Given the description of an element on the screen output the (x, y) to click on. 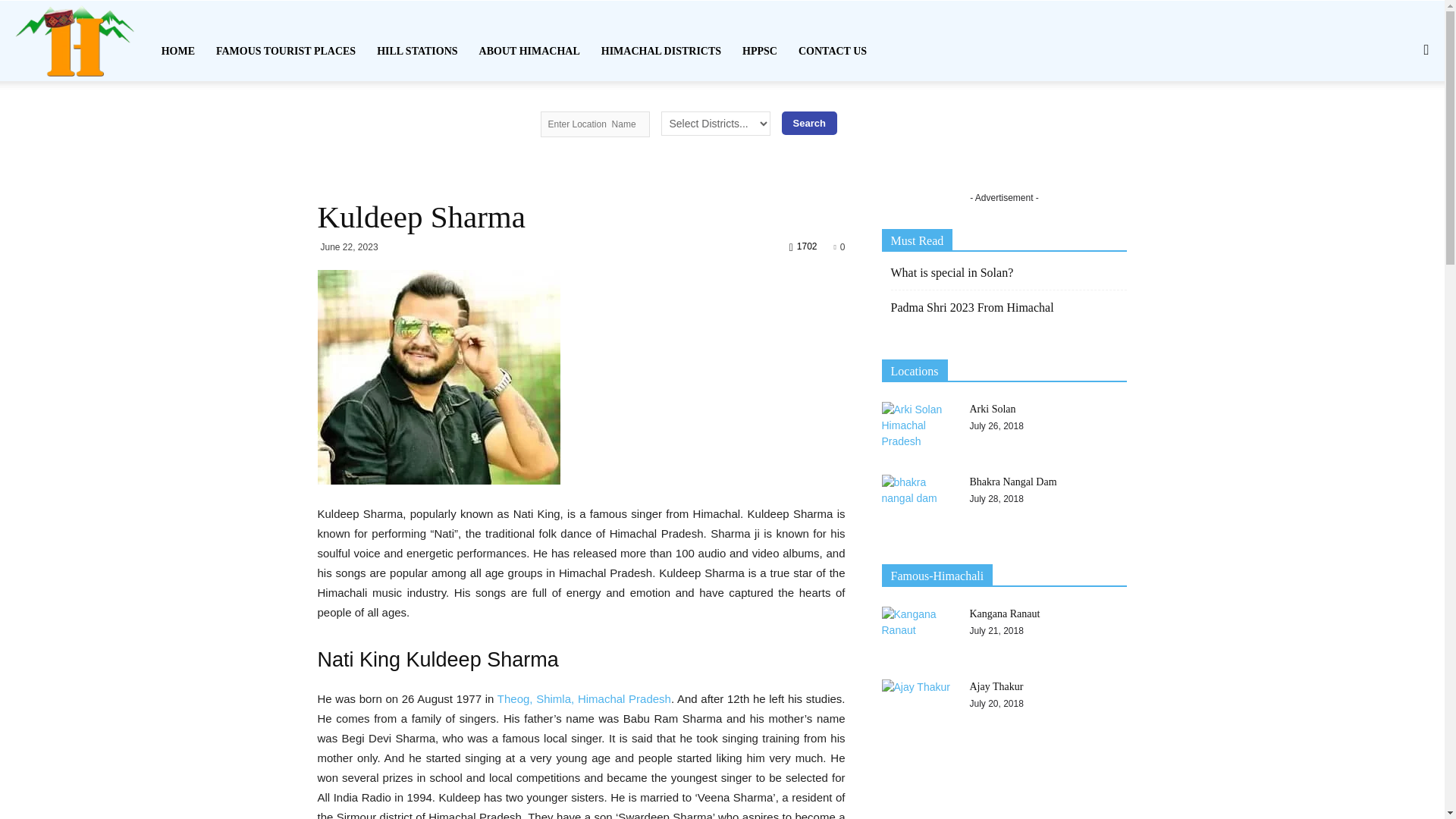
Kangana Ranaut (1004, 613)
Arki Solan (991, 408)
Arki Solan (918, 428)
new-logo (73, 40)
Bhakra Nangal Dam (918, 501)
Search (807, 123)
Ajay Thakur (918, 705)
Bhakra Nangal Dam (1013, 481)
Kangana Ranaut (918, 633)
Himachali Singer (438, 377)
